Given the description of an element on the screen output the (x, y) to click on. 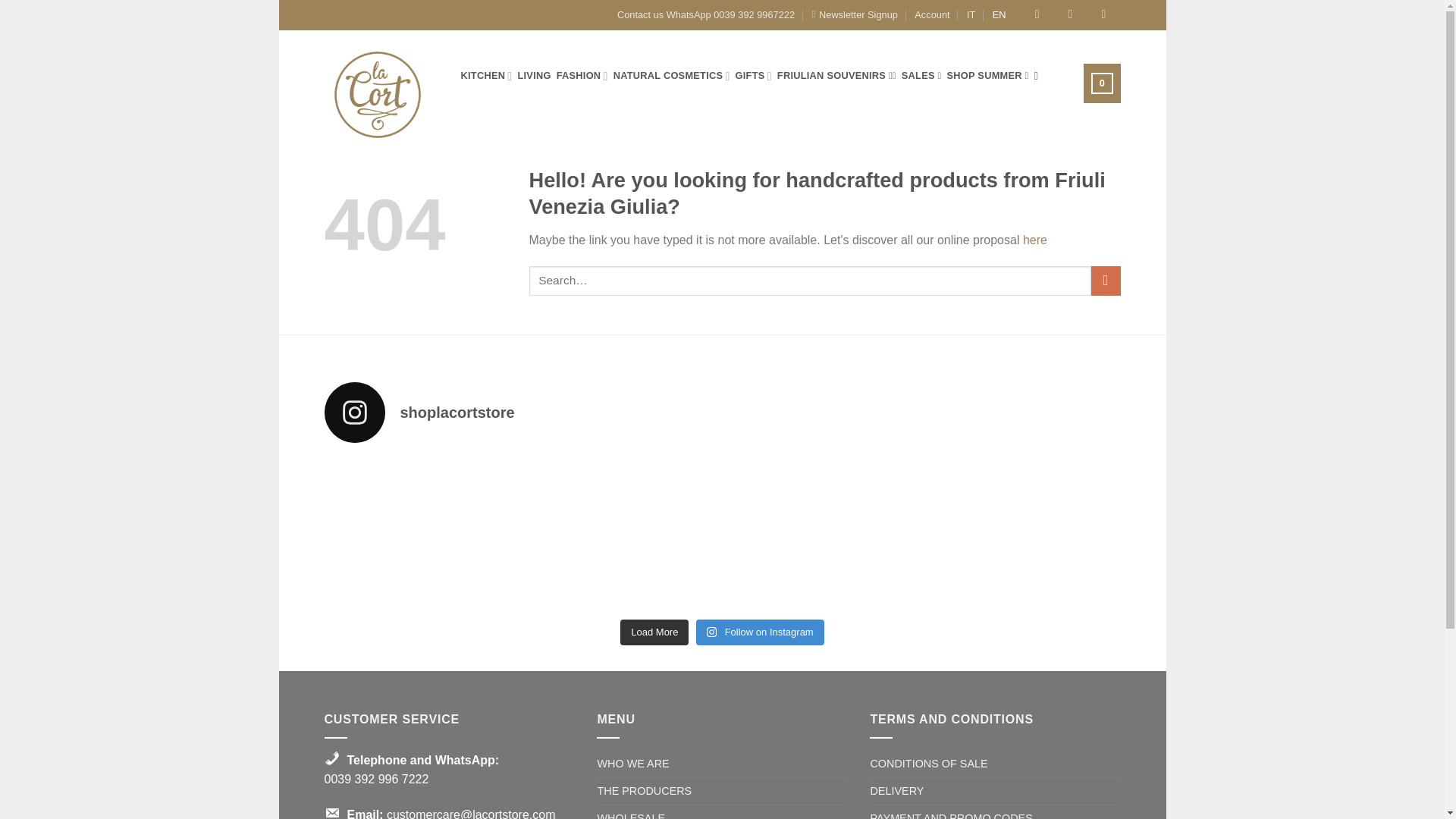
GIFTS (753, 75)
Contact us WhatsApp 0039 392 9967222 (705, 15)
FASHION (582, 75)
NATURAL COSMETICS (671, 75)
KITCHEN (486, 75)
LIVING (533, 75)
